Given the description of an element on the screen output the (x, y) to click on. 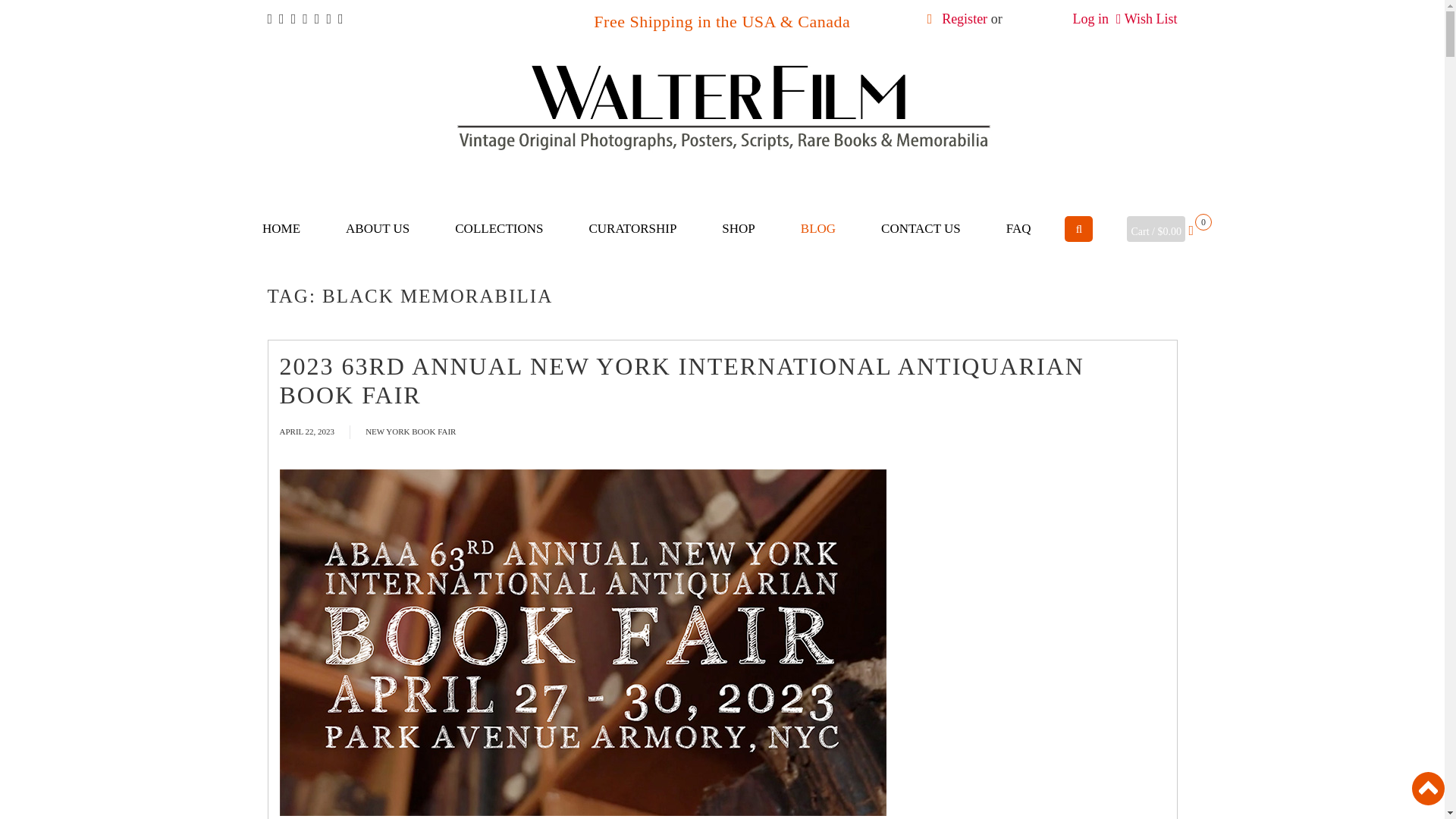
Log in (1089, 18)
SHOP (737, 229)
CURATORSHIP (631, 229)
HOME (280, 229)
BLOG (818, 229)
CONTACT US (920, 229)
Wish List (1150, 18)
ABOUT US (377, 229)
COLLECTIONS (499, 229)
Register (964, 18)
